Given the description of an element on the screen output the (x, y) to click on. 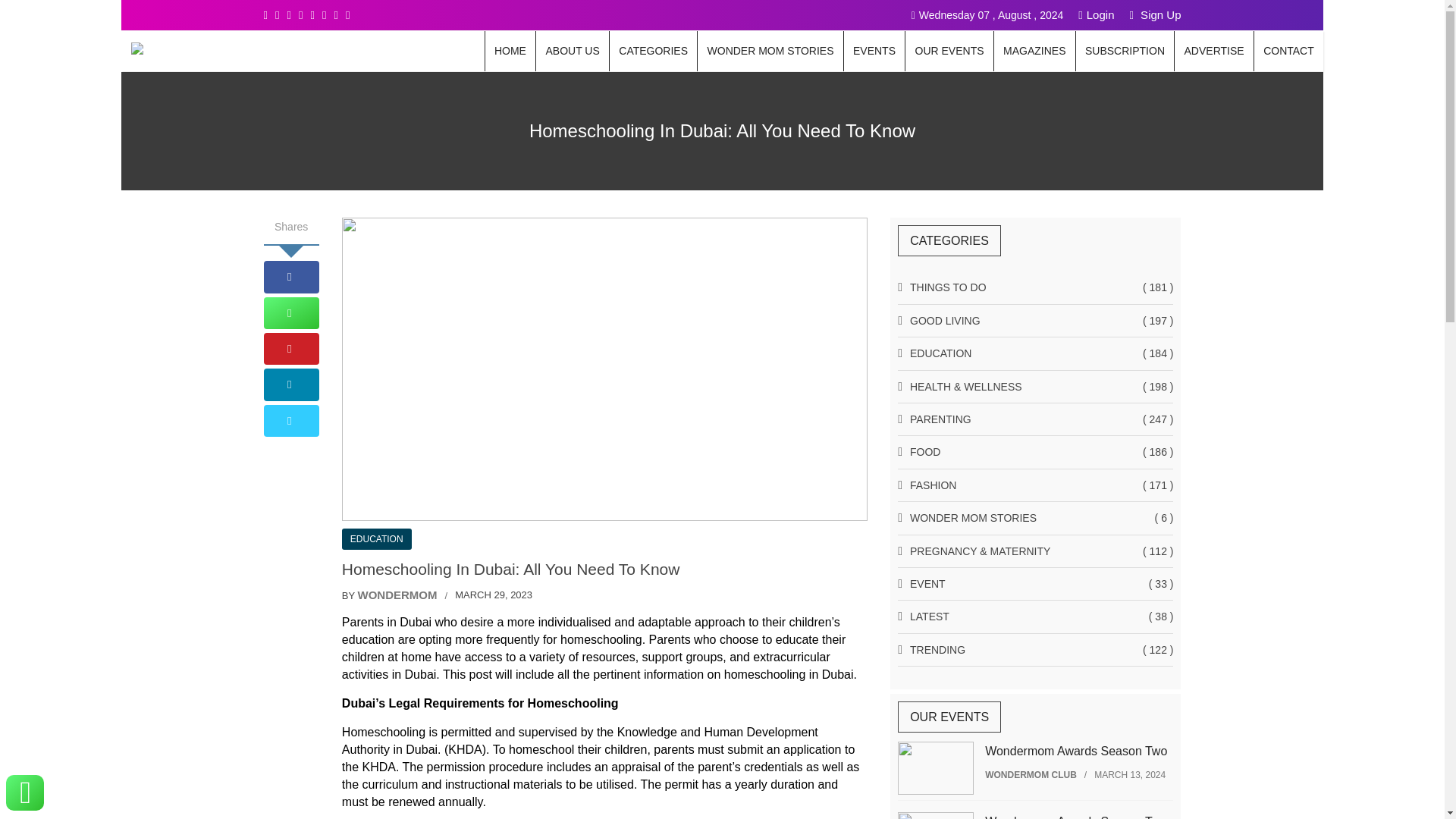
Login (1095, 14)
Sign Up (1154, 14)
OUR EVENTS (948, 51)
CATEGORIES (653, 51)
EVENTS (874, 51)
SUBSCRIPTION (1124, 51)
WONDERMOM (398, 594)
MAGAZINES (1034, 51)
HOME (509, 51)
EDUCATION (377, 538)
WONDER MOM STORIES (770, 51)
ABOUT US (571, 51)
